Given the description of an element on the screen output the (x, y) to click on. 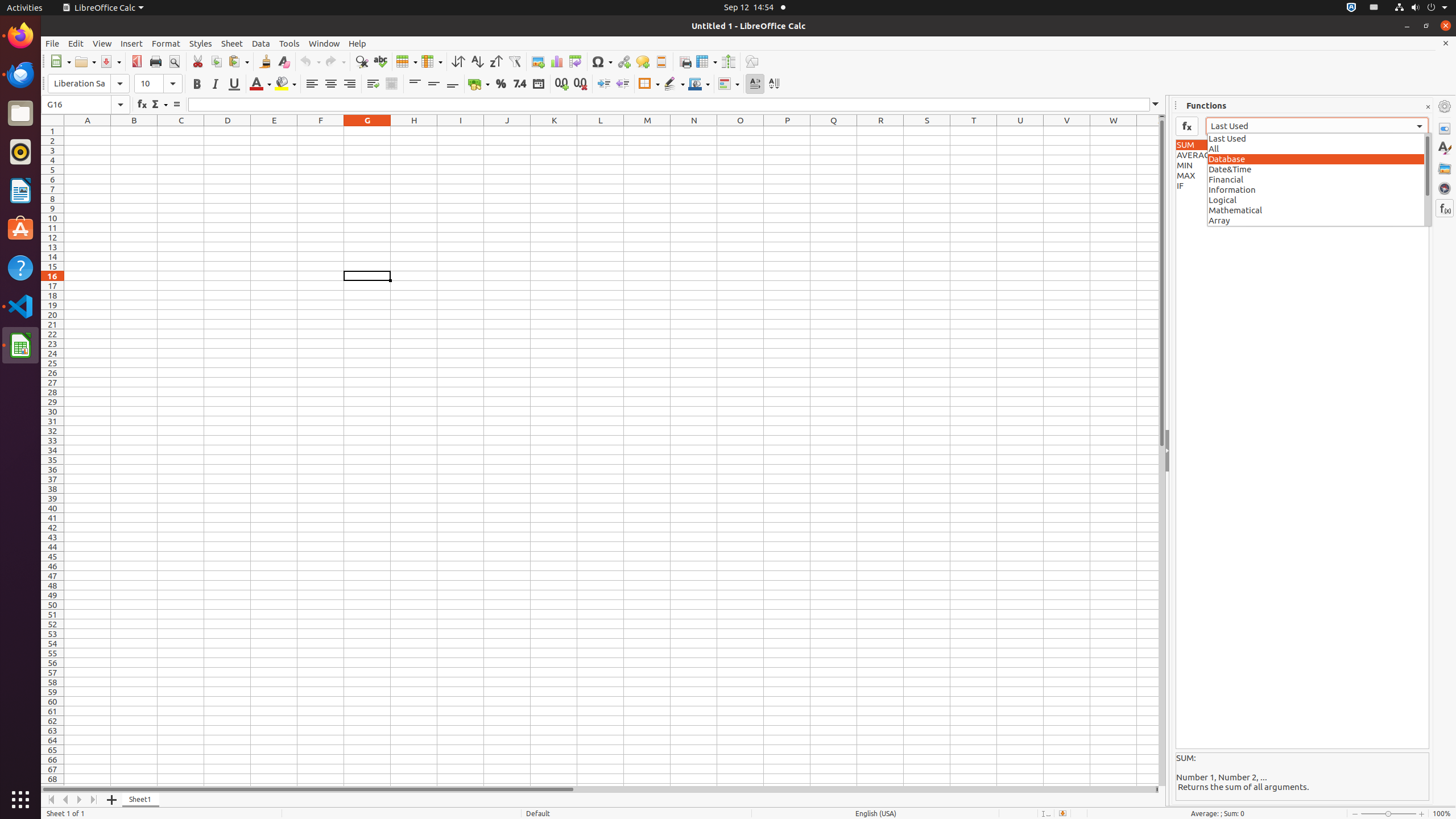
F1 Element type: table-cell (320, 130)
Styles Element type: menu (200, 43)
Sort Element type: push-button (457, 61)
